Given the description of an element on the screen output the (x, y) to click on. 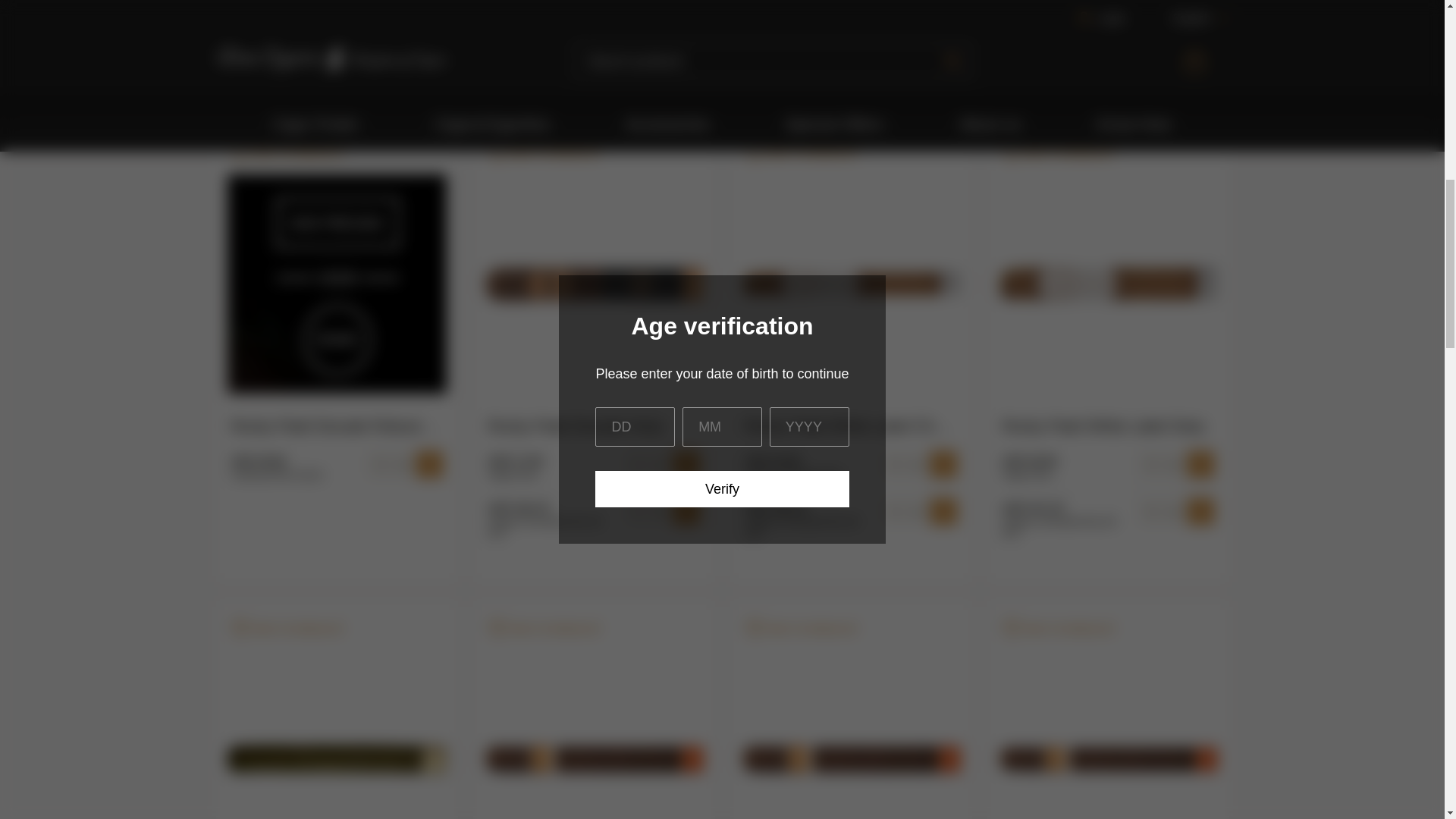
Please sign in first! (544, 628)
Please sign in first! (286, 628)
Please sign in first! (1059, 153)
Please sign in first! (800, 628)
Please sign in first! (800, 153)
Please sign in first! (1059, 628)
Please sign in first! (286, 153)
Please sign in first! (544, 153)
